Given the description of an element on the screen output the (x, y) to click on. 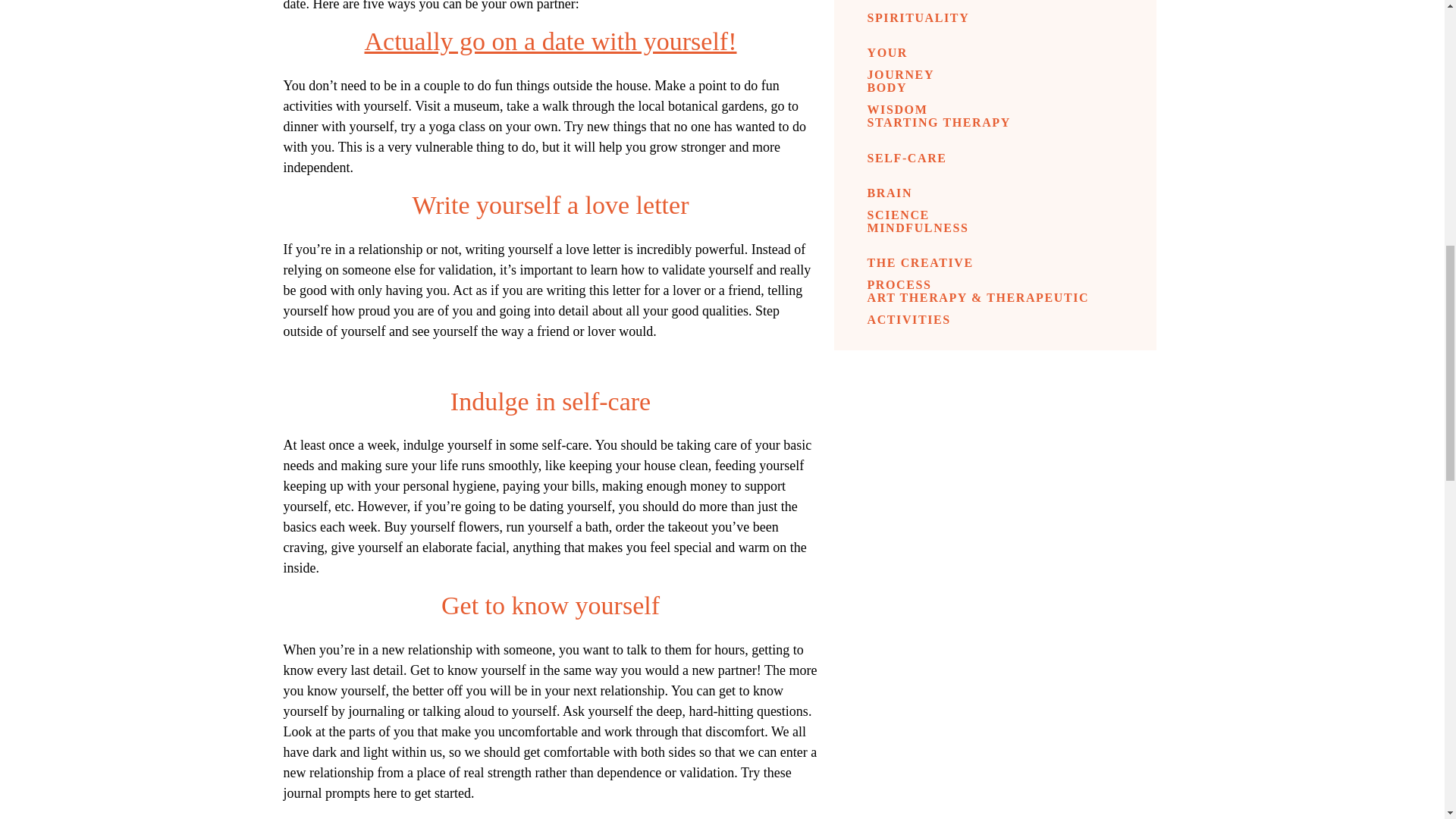
MINDFULNESS (911, 228)
BRAIN SCIENCE (918, 192)
YOUR JOURNEY (921, 52)
SPIRITUALITY (906, 17)
BODY WISDOM (919, 87)
THE CREATIVE PROCESS (945, 262)
